Given the description of an element on the screen output the (x, y) to click on. 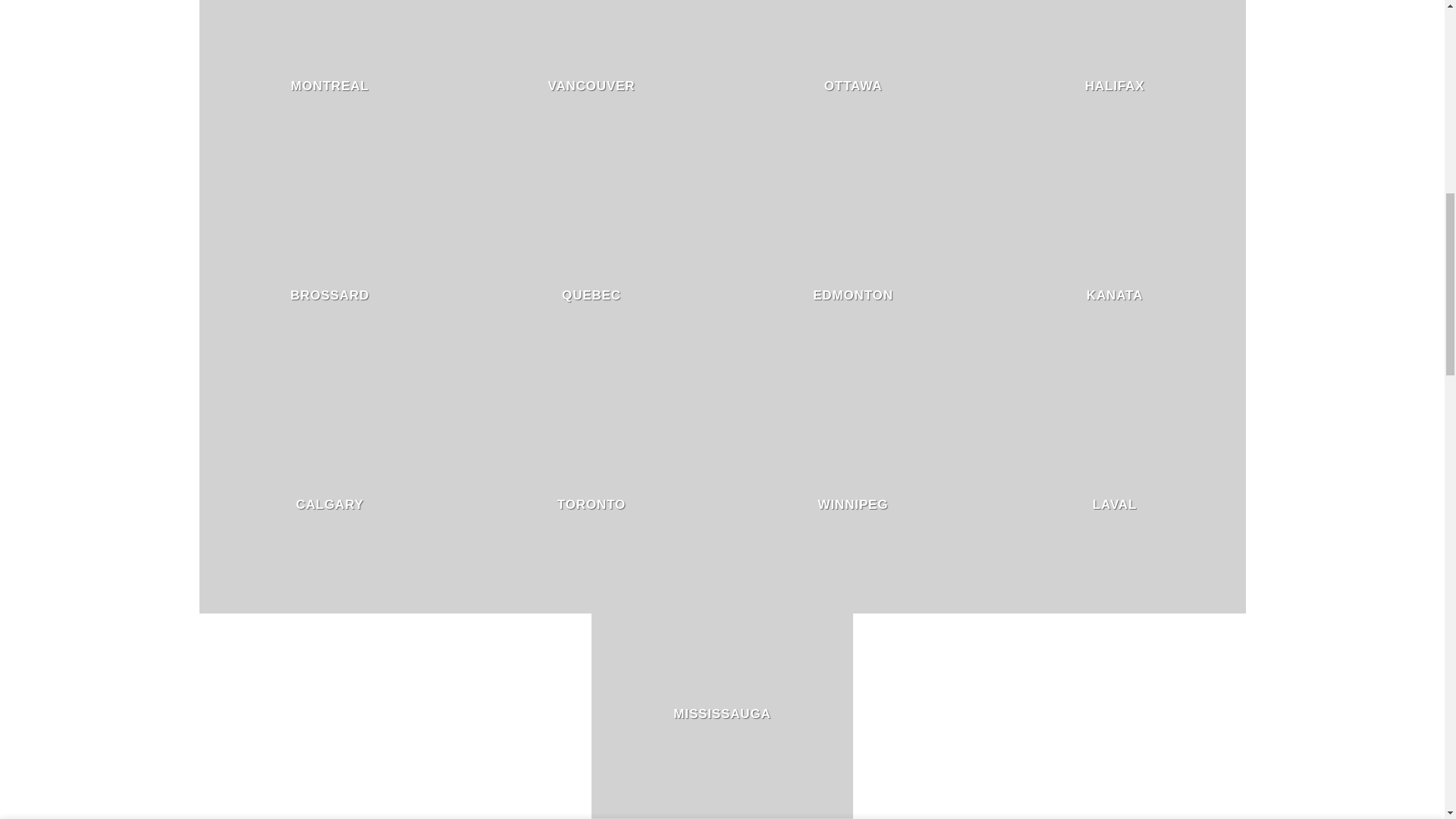
OTTAWA (853, 86)
EDMONTON (852, 295)
CALGARY (328, 504)
WINNIPEG (853, 504)
VANCOUVER (590, 86)
BROSSARD (329, 295)
TORONTO (591, 504)
MONTREAL (328, 86)
MISSISSAUGA (721, 713)
QUEBEC (591, 295)
KANATA (1114, 295)
HALIFAX (1114, 86)
LAVAL (1115, 504)
